Given the description of an element on the screen output the (x, y) to click on. 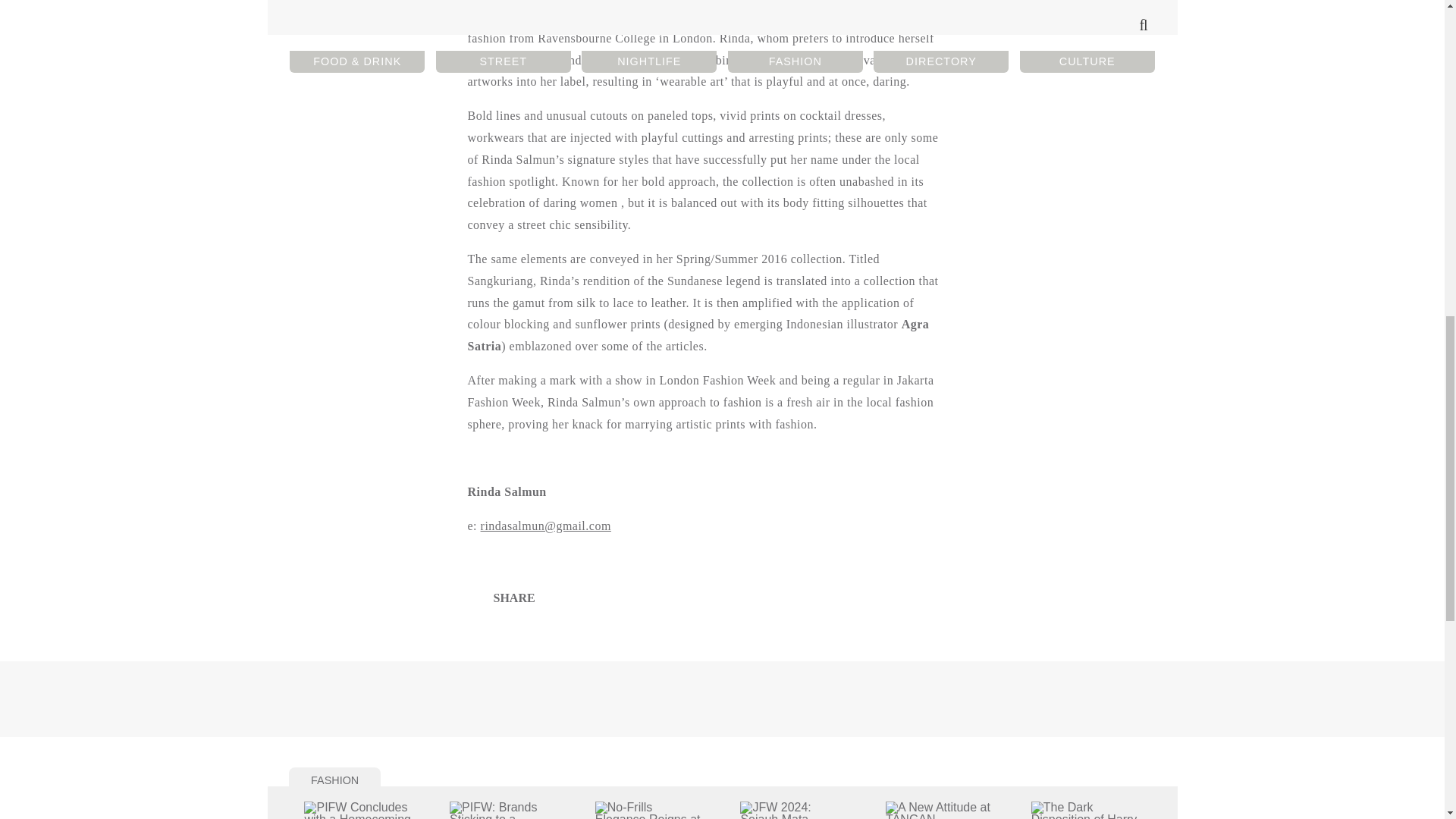
SHARE (504, 598)
Read A New Attitude at TANGAN (939, 810)
Read JFW 2024: Sejauh Mata Memandang, Sean Sheila and Mahija (793, 810)
Read PIFW: Brands Sticking to a Palatable Formula (504, 810)
Read No-Frills Elegance Reigns at Sapto Djojokartiko (649, 810)
Read PIFW Concludes with a Homecoming for Local Designers (358, 810)
Share on Facebook (504, 598)
